Given the description of an element on the screen output the (x, y) to click on. 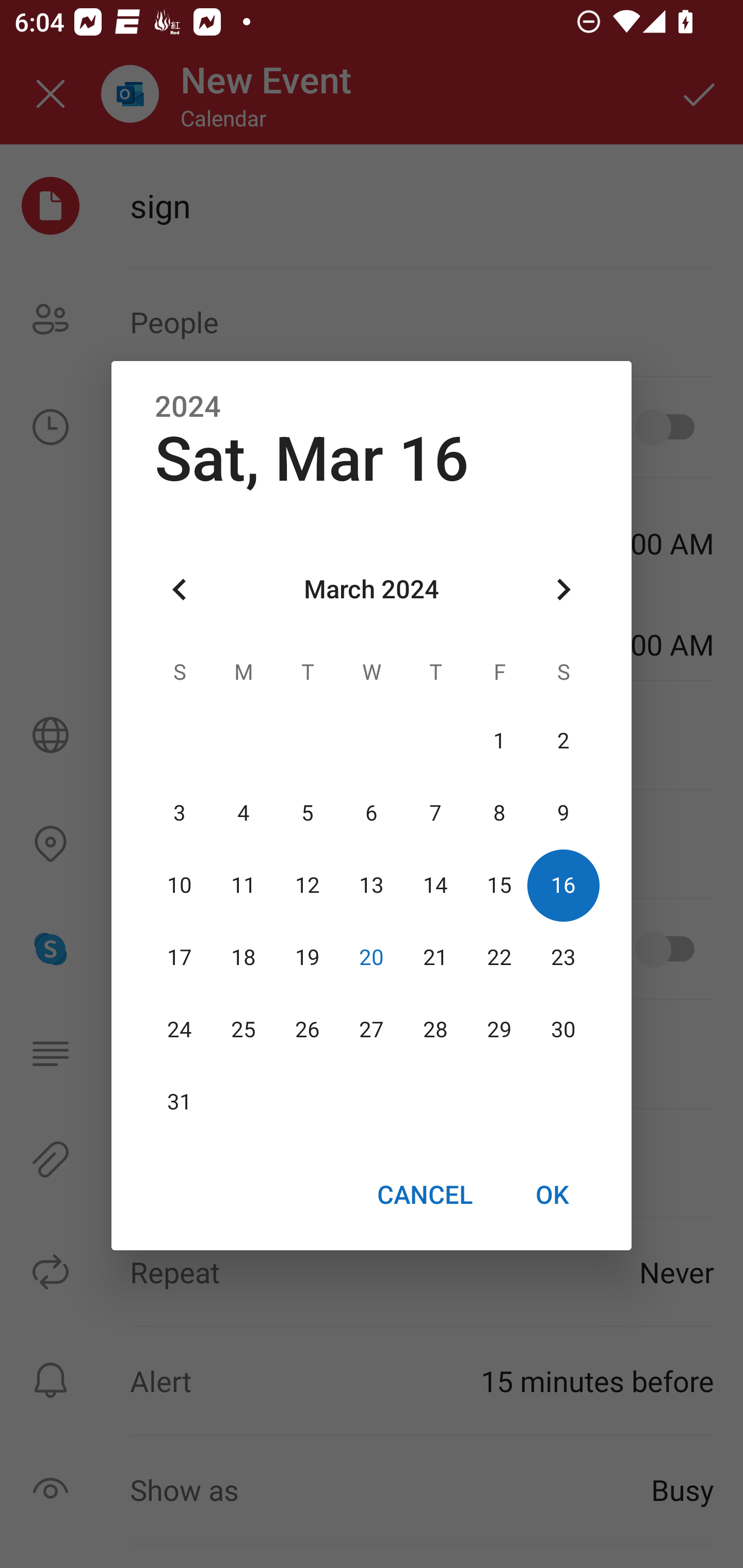
2024 (187, 406)
Sat, Mar 16 (311, 459)
Previous month (178, 589)
Next month (563, 589)
1 01 March 2024 (499, 741)
2 02 March 2024 (563, 741)
3 03 March 2024 (179, 813)
4 04 March 2024 (243, 813)
5 05 March 2024 (307, 813)
6 06 March 2024 (371, 813)
7 07 March 2024 (435, 813)
8 08 March 2024 (499, 813)
9 09 March 2024 (563, 813)
10 10 March 2024 (179, 885)
11 11 March 2024 (243, 885)
12 12 March 2024 (307, 885)
13 13 March 2024 (371, 885)
14 14 March 2024 (435, 885)
15 15 March 2024 (499, 885)
16 16 March 2024 (563, 885)
17 17 March 2024 (179, 957)
18 18 March 2024 (243, 957)
19 19 March 2024 (307, 957)
20 20 March 2024 (371, 957)
21 21 March 2024 (435, 957)
22 22 March 2024 (499, 957)
23 23 March 2024 (563, 957)
24 24 March 2024 (179, 1030)
25 25 March 2024 (243, 1030)
26 26 March 2024 (307, 1030)
27 27 March 2024 (371, 1030)
28 28 March 2024 (435, 1030)
29 29 March 2024 (499, 1030)
30 30 March 2024 (563, 1030)
31 31 March 2024 (179, 1102)
CANCEL (424, 1194)
OK (552, 1194)
